Given the description of an element on the screen output the (x, y) to click on. 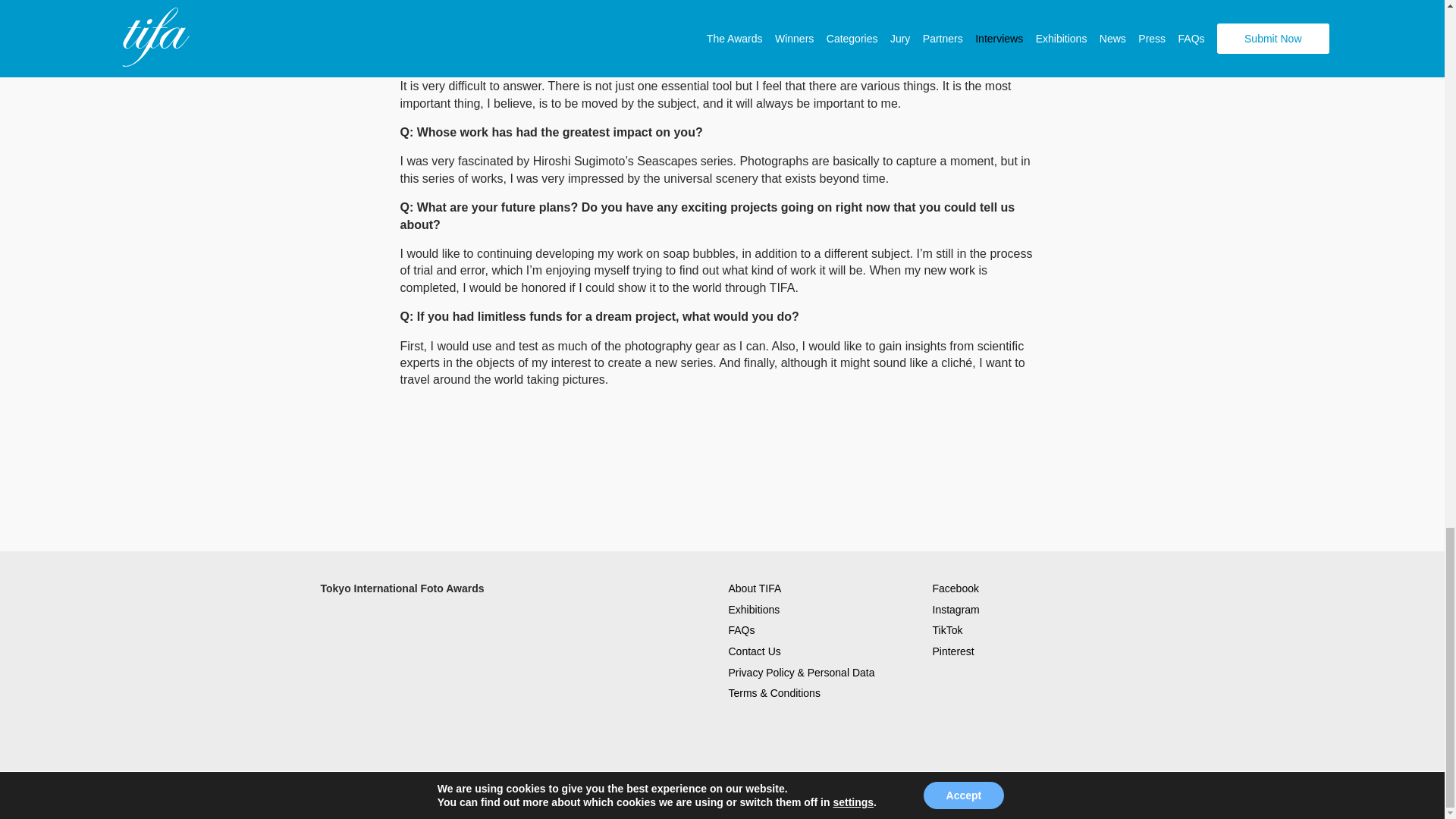
About TIFA (754, 588)
Exhibitions (753, 609)
TikTok (947, 630)
Contact Us (754, 651)
Pinterest (953, 651)
Facebook (955, 588)
Instagram (956, 609)
FAQs (741, 630)
